Given the description of an element on the screen output the (x, y) to click on. 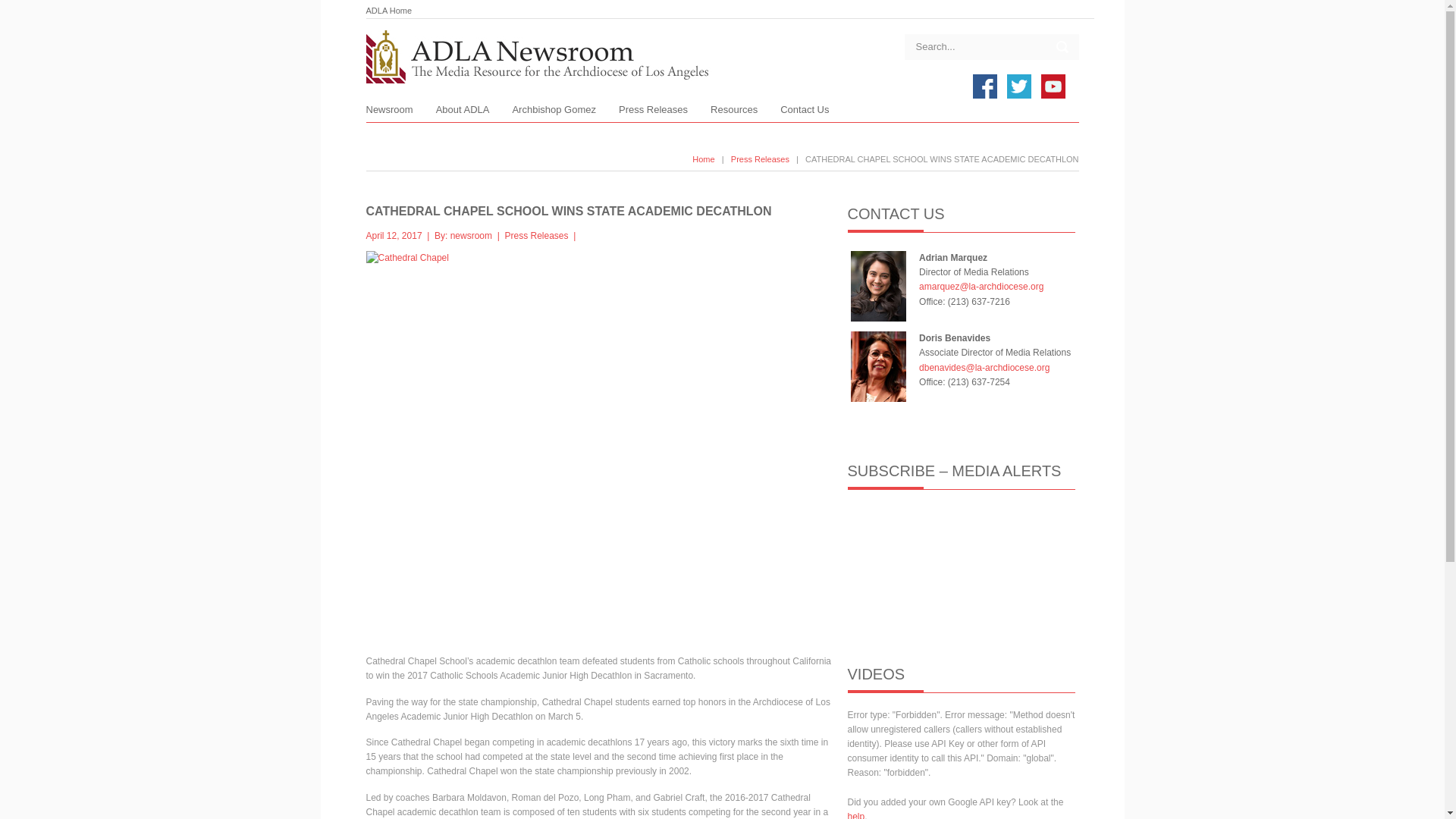
Resources (733, 113)
About ADLA (462, 113)
Newsroom (388, 113)
Press Releases (537, 235)
Posts by newsroom (470, 235)
Search... (971, 46)
Archbishop Gomez (553, 113)
newsroom (470, 235)
ADLA Home (388, 10)
Press Releases (652, 113)
